Given the description of an element on the screen output the (x, y) to click on. 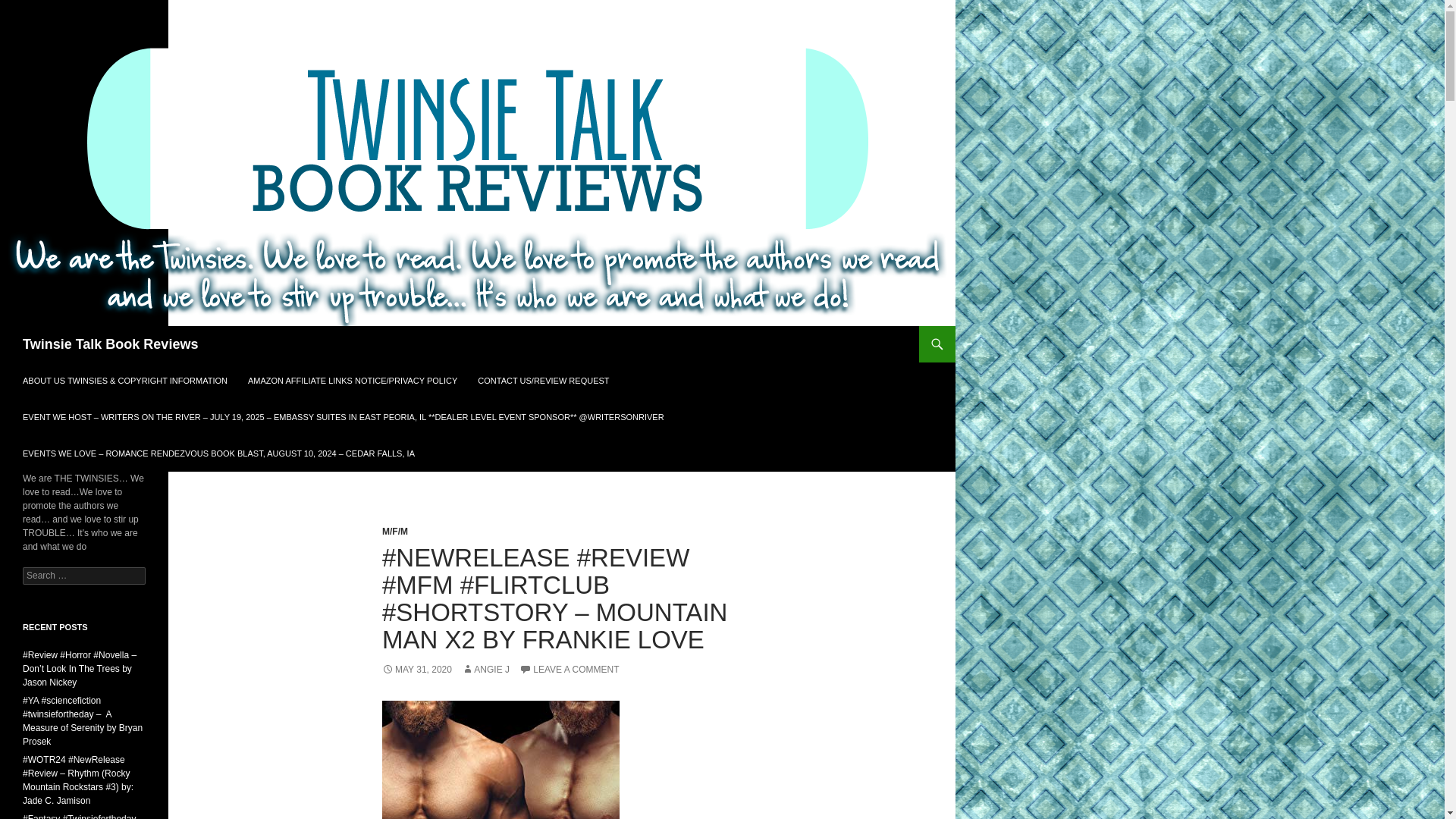
Search (30, 8)
ANGIE J (485, 669)
LEAVE A COMMENT (568, 669)
Twinsie Talk Book Reviews (110, 343)
MAY 31, 2020 (416, 669)
